Given the description of an element on the screen output the (x, y) to click on. 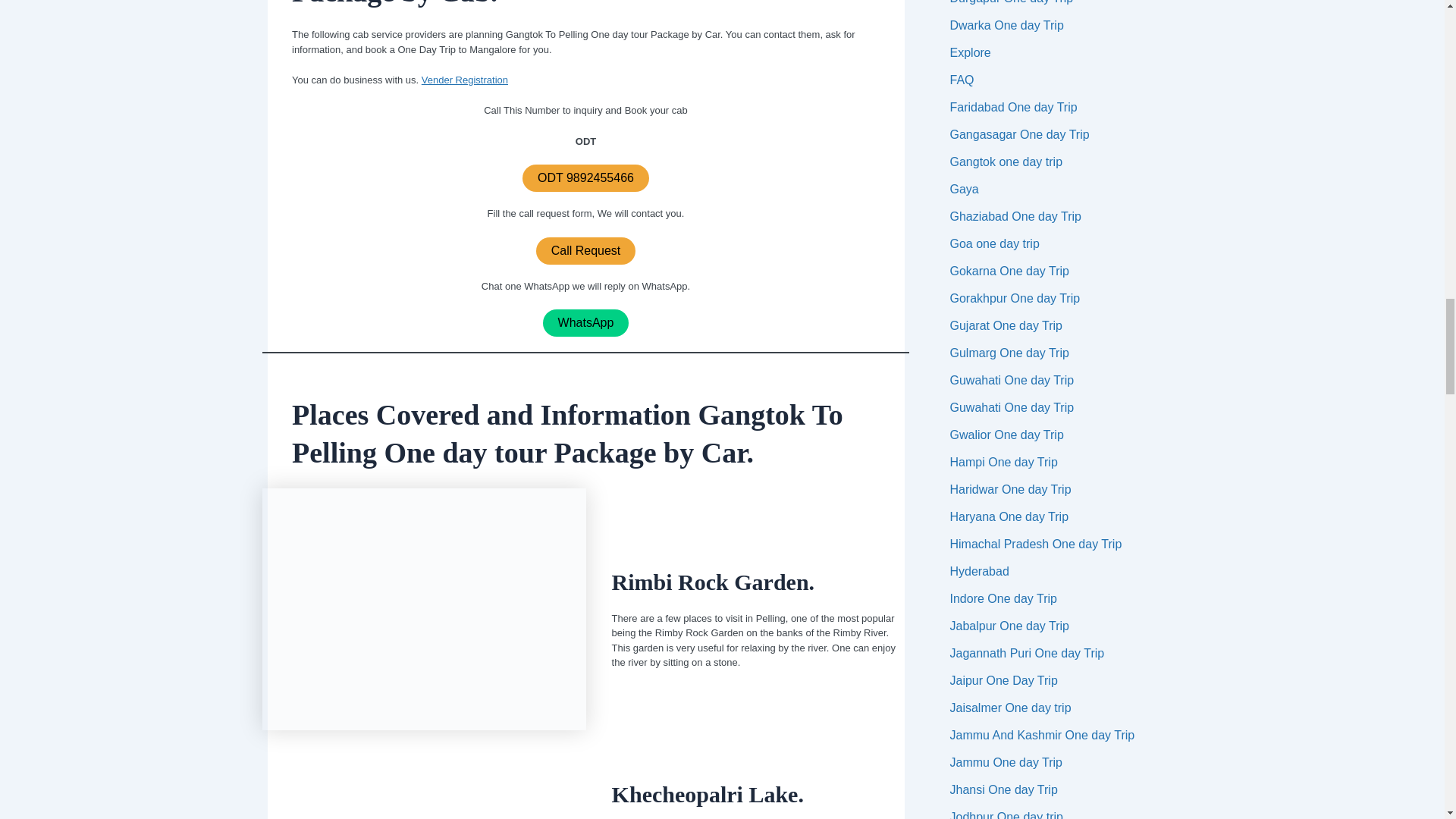
Vender Registration (465, 79)
ODT 9892455466 (585, 177)
Call Request (585, 250)
WhatsApp (585, 322)
